Given the description of an element on the screen output the (x, y) to click on. 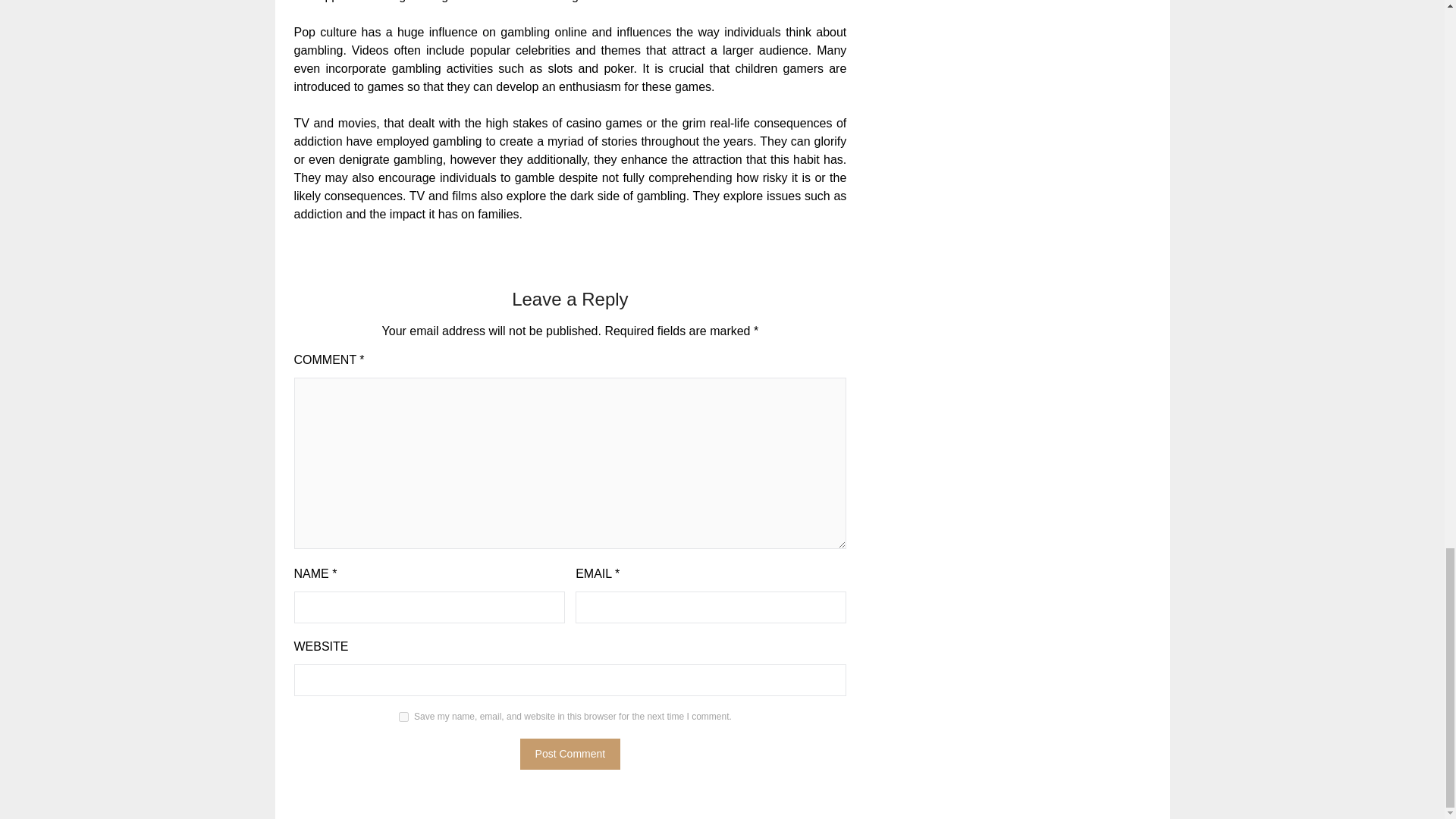
Post Comment (570, 753)
yes (403, 716)
Post Comment (570, 753)
